Given the description of an element on the screen output the (x, y) to click on. 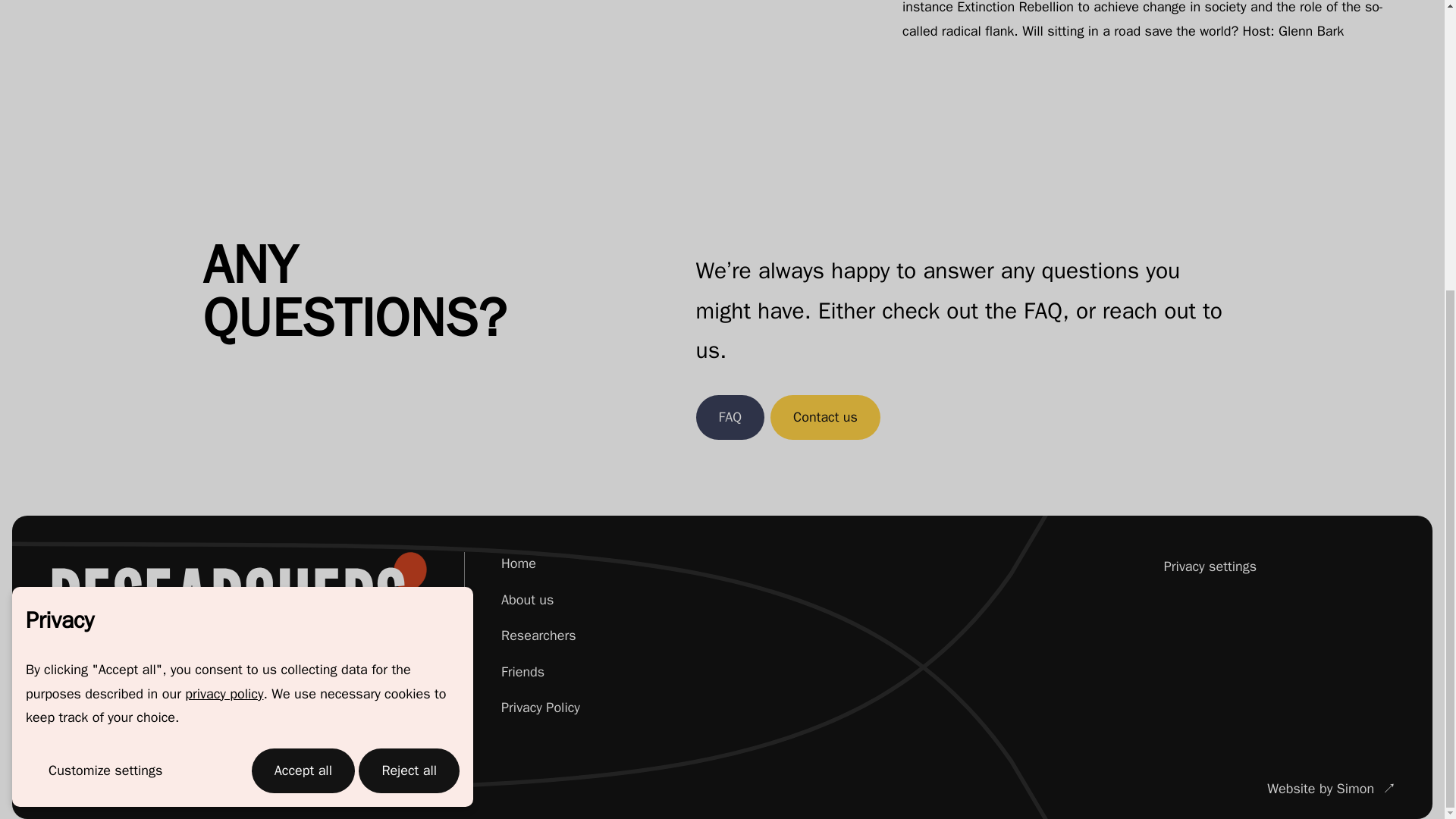
Website by Simon (1331, 789)
Reject all (409, 329)
Privacy Policy (539, 707)
About us (526, 599)
Contact us (825, 417)
Accept all (303, 329)
Privacy settings (1198, 567)
Researchers (538, 635)
Home (517, 563)
privacy policy (223, 252)
Customize settings (105, 329)
Friends (522, 671)
FAQ (730, 417)
